Given the description of an element on the screen output the (x, y) to click on. 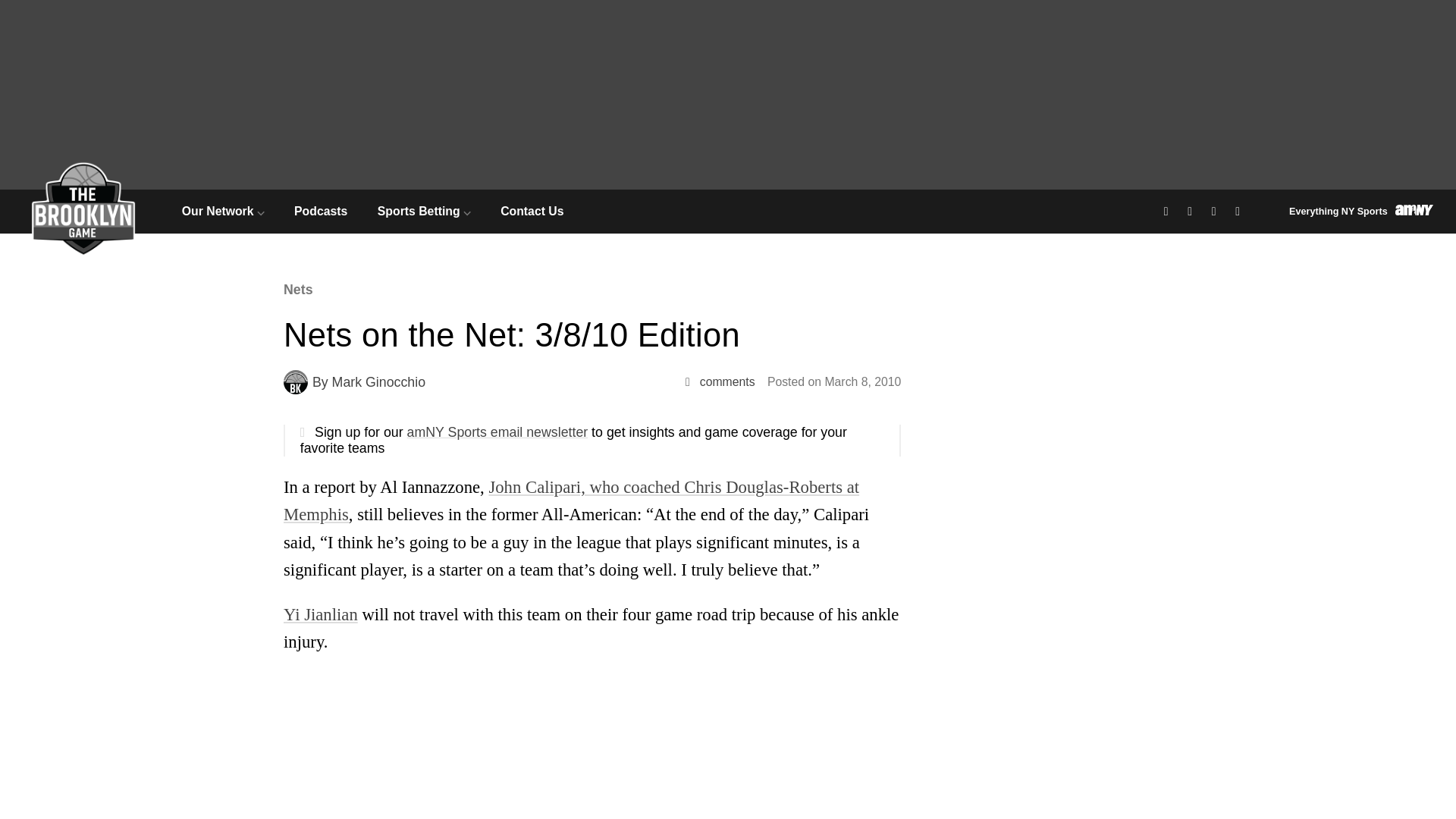
Instagram (1216, 210)
Podcasts (320, 210)
Posts by Mark Ginocchio (378, 381)
Sports Betting (423, 210)
Facebook (1168, 210)
Everything NY Sports (1360, 210)
Our Network (223, 210)
Contact Us (531, 210)
Twitter (1192, 210)
Youtube (1239, 210)
